Given the description of an element on the screen output the (x, y) to click on. 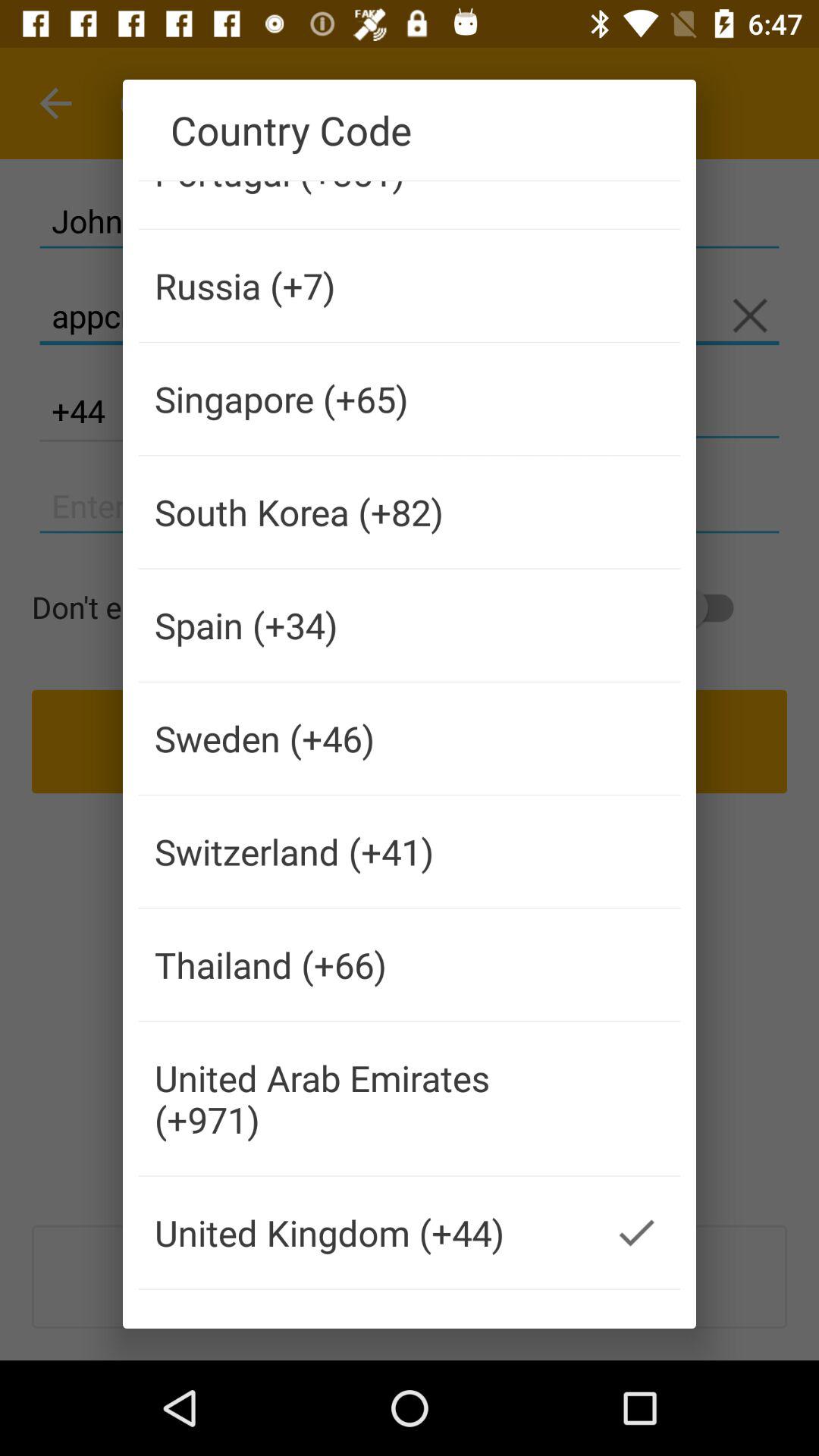
press icon above thailand (+66) item (365, 851)
